Given the description of an element on the screen output the (x, y) to click on. 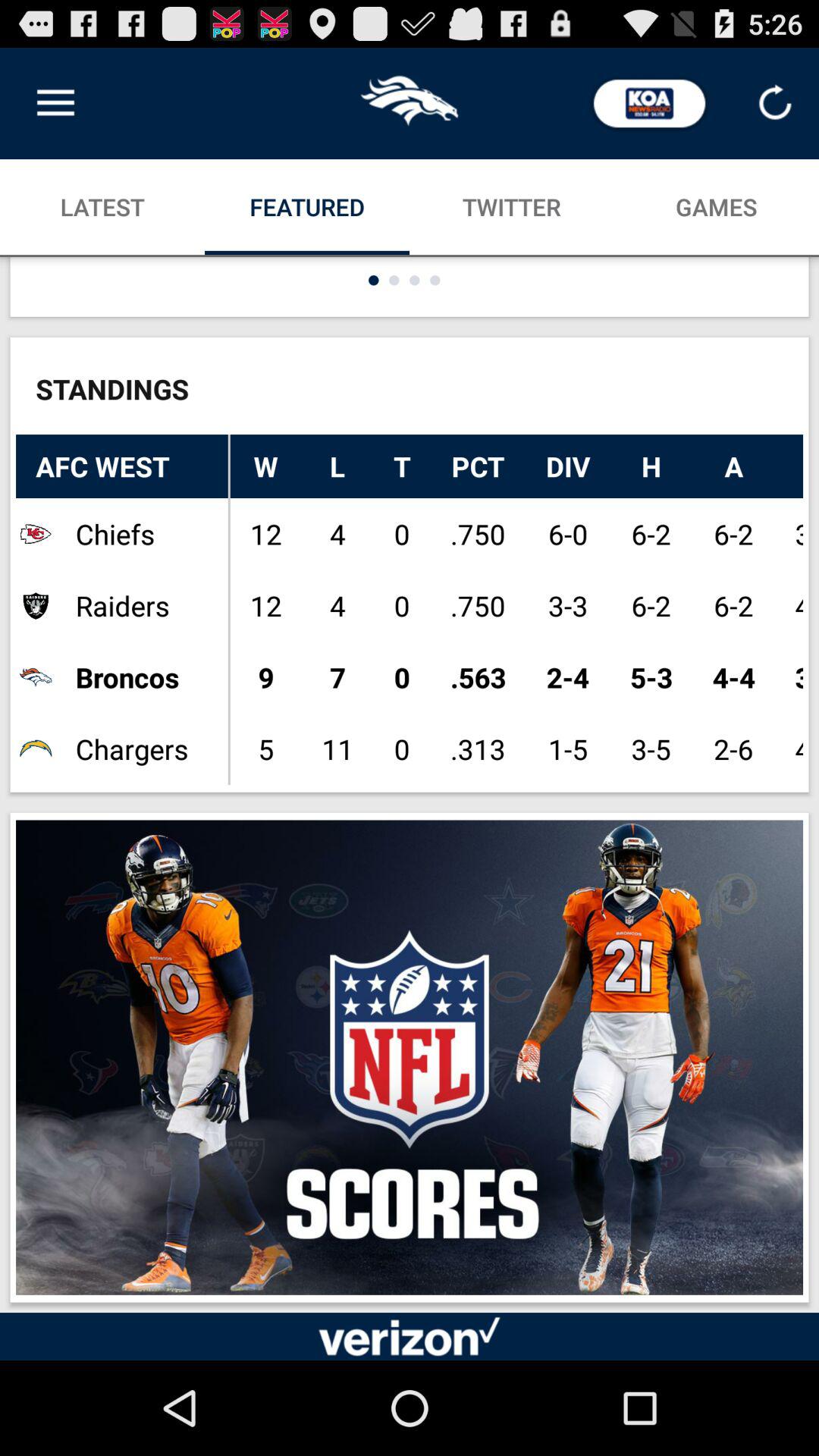
tap the icon above the latest icon (55, 103)
